Given the description of an element on the screen output the (x, y) to click on. 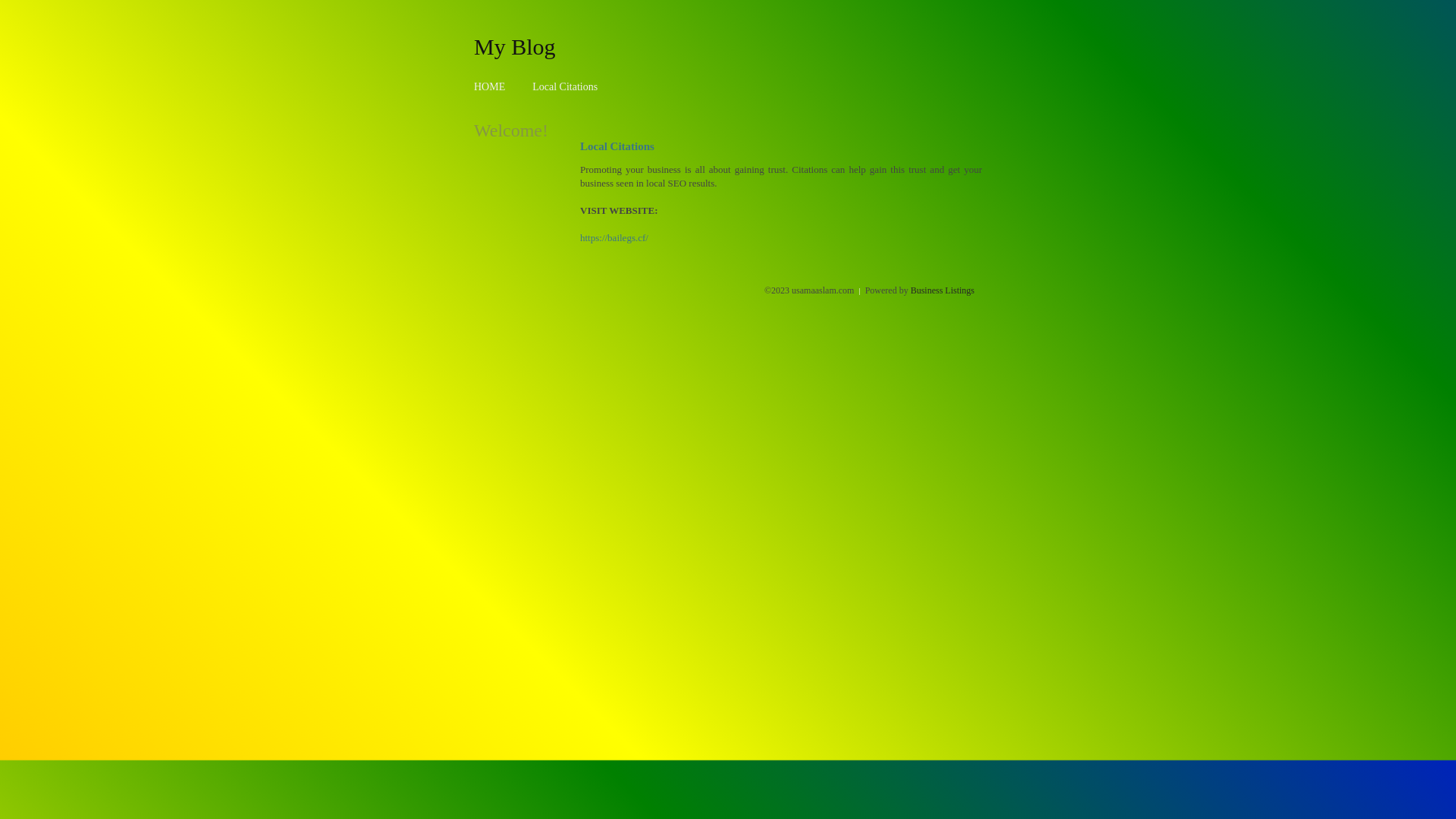
https://bailegs.cf/ Element type: text (614, 237)
HOME Element type: text (489, 86)
My Blog Element type: text (514, 46)
Local Citations Element type: text (564, 86)
Business Listings Element type: text (942, 290)
